Given the description of an element on the screen output the (x, y) to click on. 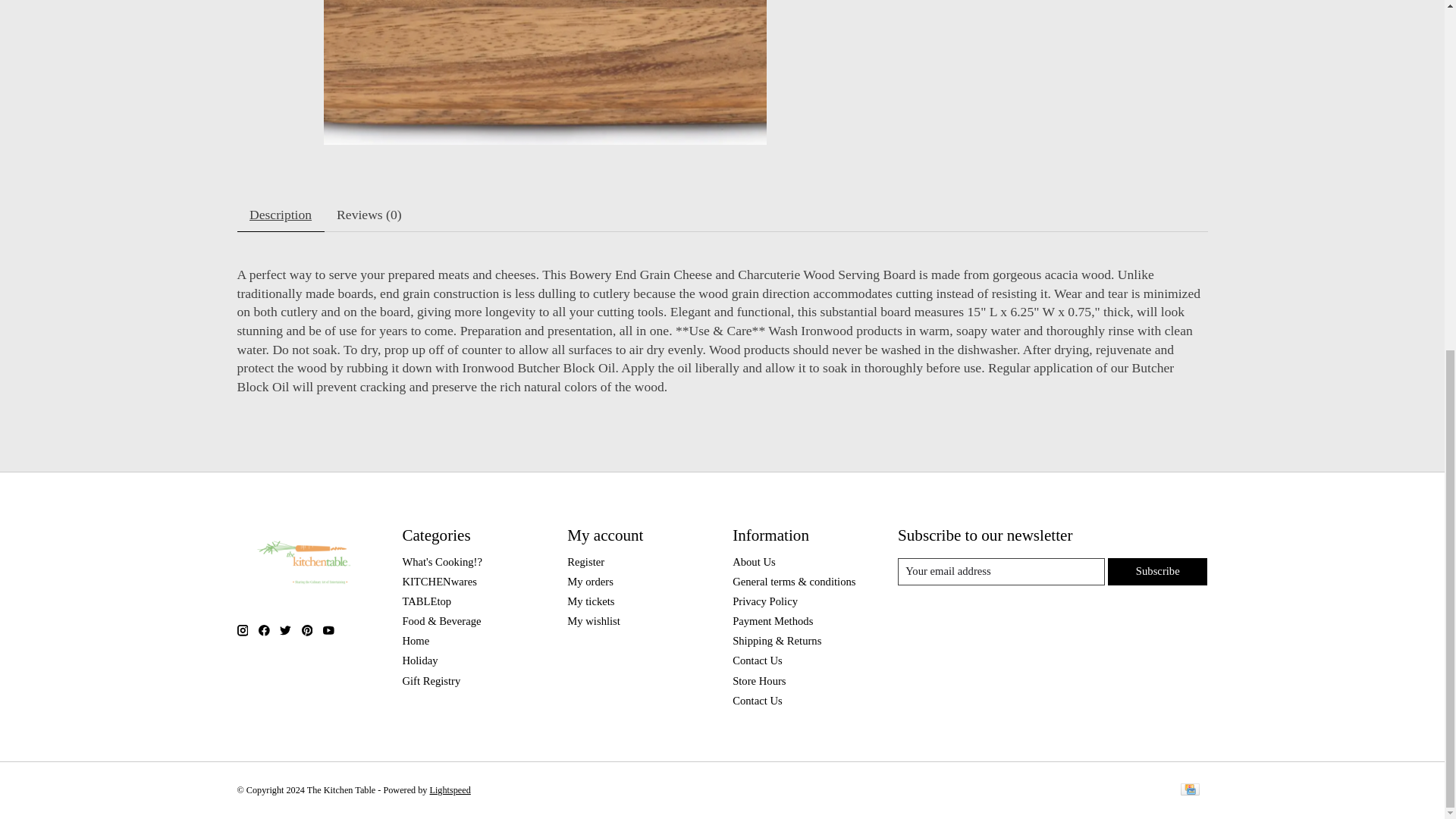
Privacy Policy (764, 601)
Contact Us (757, 660)
My orders (589, 581)
Credit Card (1188, 790)
My tickets (590, 601)
Register (585, 562)
Lightspeed (449, 789)
My wishlist (593, 621)
Contact Us (757, 700)
Payment Methods (772, 621)
Store Hours (759, 680)
About Us (754, 562)
